Given the description of an element on the screen output the (x, y) to click on. 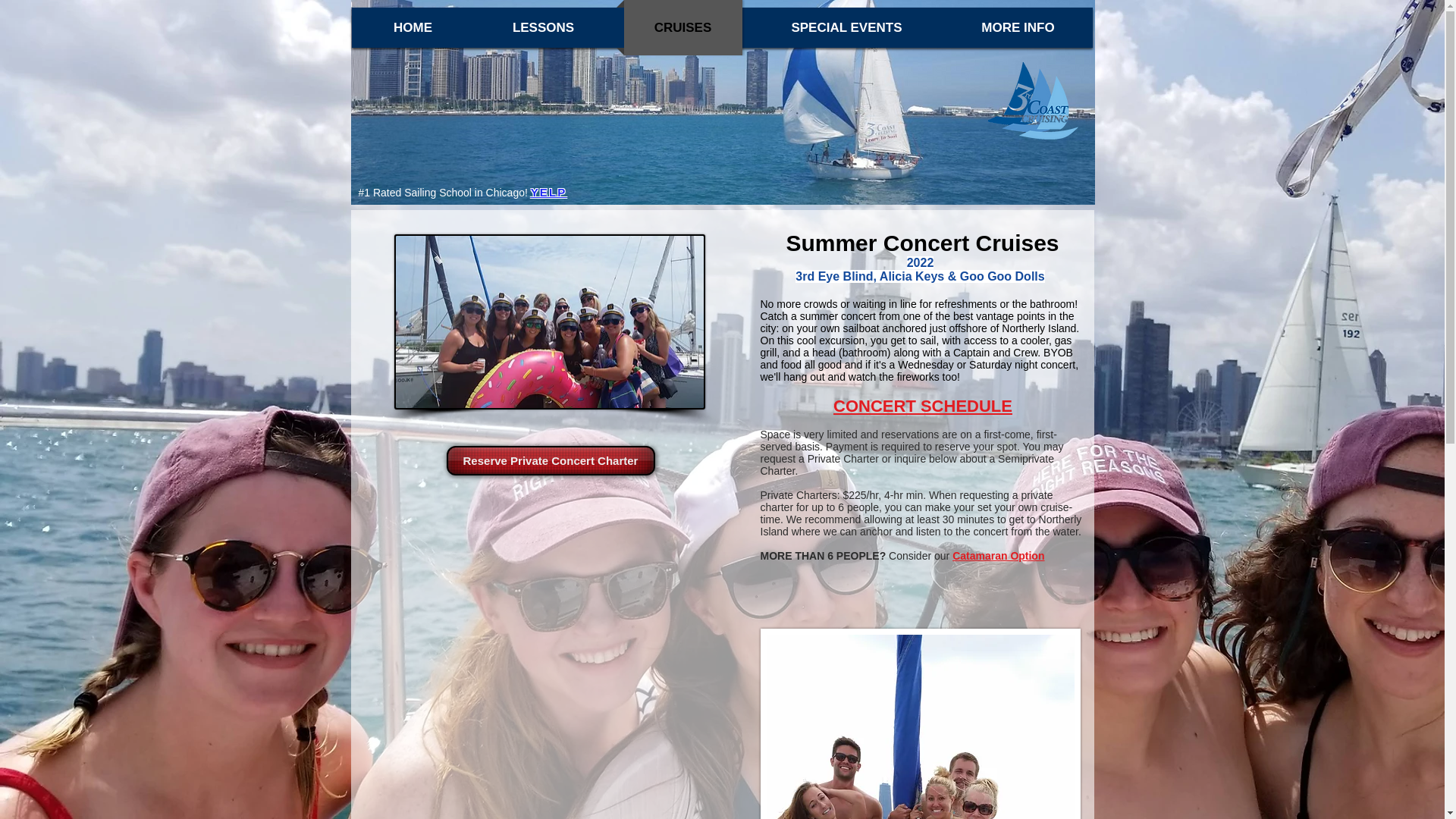
HOME (412, 27)
YELP (549, 192)
CHAT NOW (715, 117)
CRUISES (682, 27)
LESSONS (543, 27)
3rd Coast PNG.png (1032, 102)
